Given the description of an element on the screen output the (x, y) to click on. 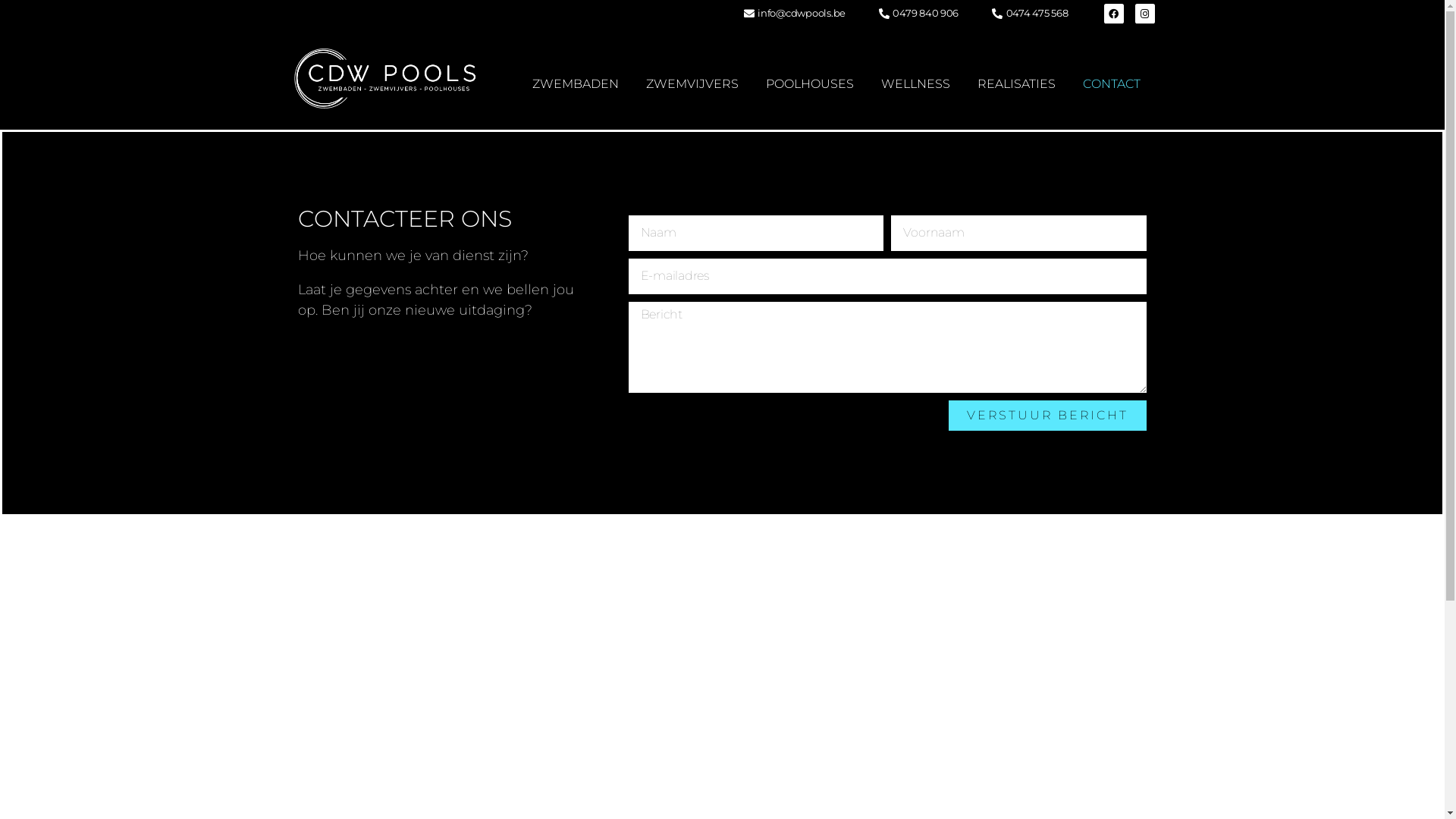
ZWEMBADEN Element type: text (575, 83)
WELLNESS Element type: text (915, 83)
REALISATIES Element type: text (1016, 83)
CONTACT Element type: text (1111, 83)
info@cdwpools.be Element type: text (792, 13)
POOLHOUSES Element type: text (809, 83)
ZWEMVIJVERS Element type: text (692, 83)
0479 840 906 Element type: text (916, 13)
VERSTUUR BERICHT Element type: text (1047, 415)
0474 475 568 Element type: text (1027, 13)
